Given the description of an element on the screen output the (x, y) to click on. 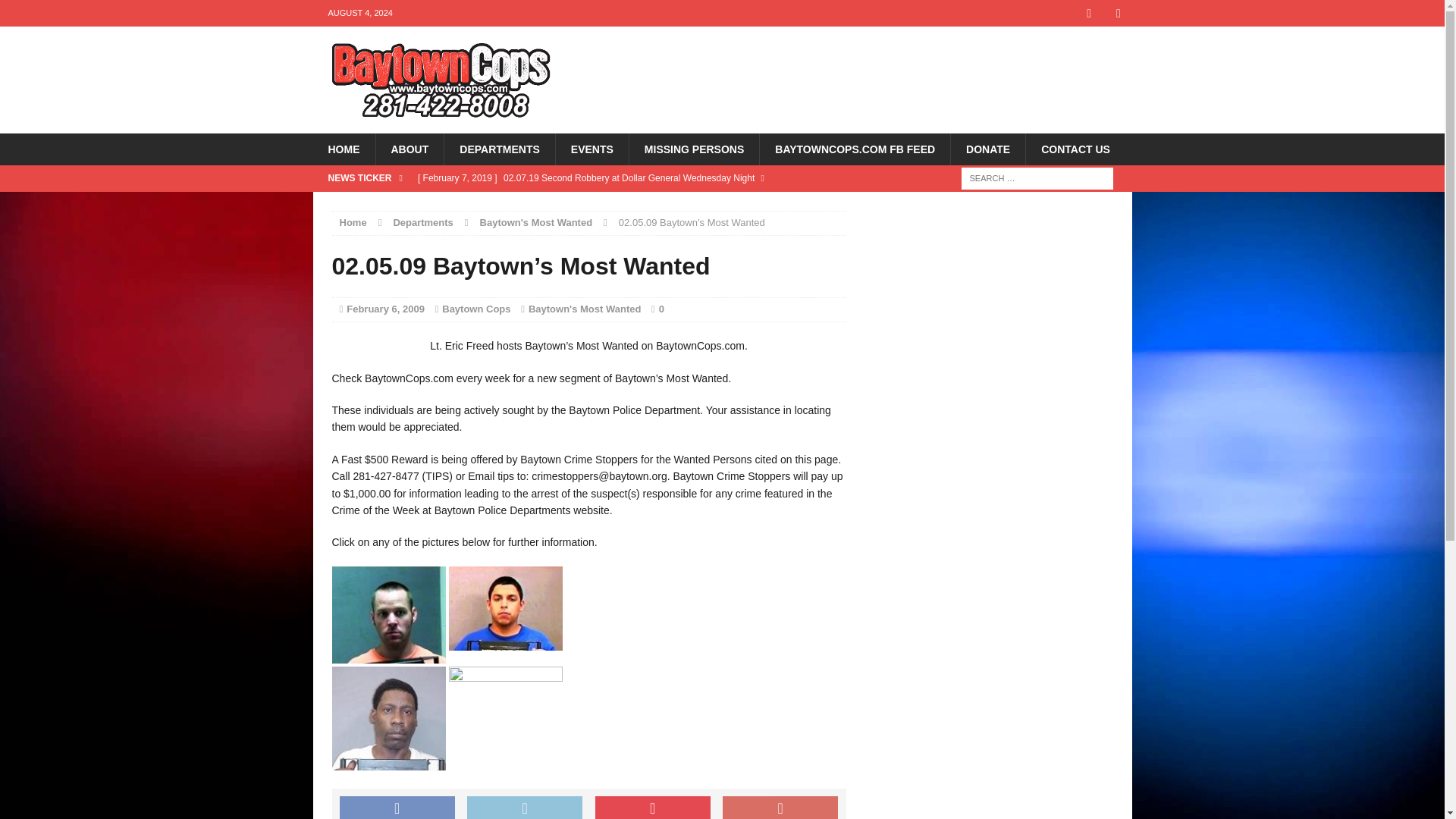
Share on Facebook (396, 807)
02.07.19  Second Robbery at Dollar General Wednesday Night (627, 191)
BAYTOWNCOPS.COM FB FEED (854, 149)
DONATE (987, 149)
DEPARTMENTS (499, 149)
HOME (343, 149)
ABOUT (409, 149)
MISSING PERSONS (693, 149)
EVENTS (591, 149)
Pin This Post (652, 807)
